Given the description of an element on the screen output the (x, y) to click on. 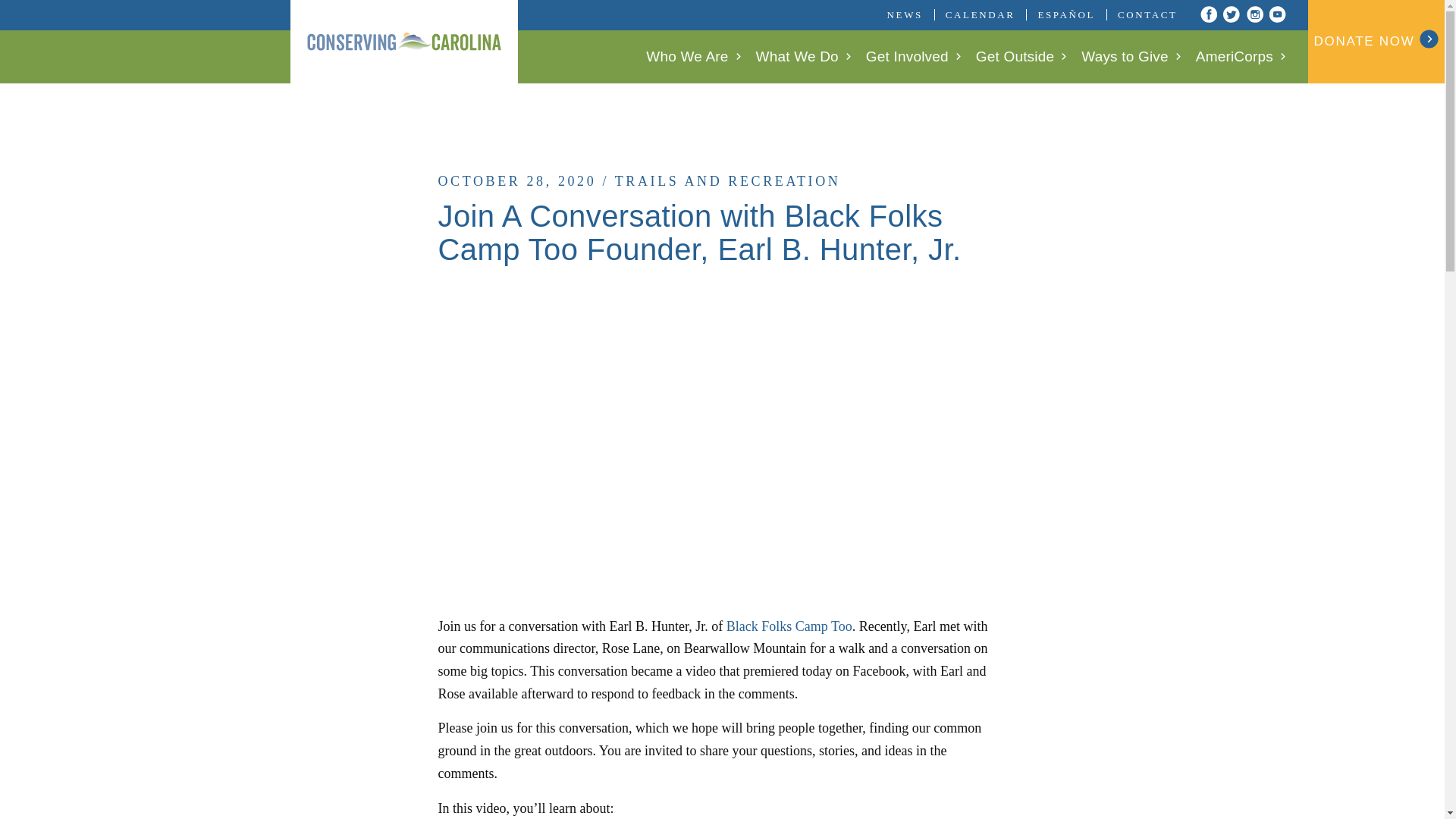
Visit Conserving Carolina on Instagram (1254, 13)
Get Outside (1021, 56)
Visit Conserving Carolina on YouTube (1277, 13)
Visit Conserving Carolina on YouTube (1277, 13)
CONTACT (1147, 15)
Visit Conserving Carolina on Facebook (1207, 13)
CALENDAR (980, 15)
Get Involved (913, 56)
Visit Conserving Carolina on Twitter (1231, 13)
Visit Conserving Carolina on Twitter (1231, 13)
